Given the description of an element on the screen output the (x, y) to click on. 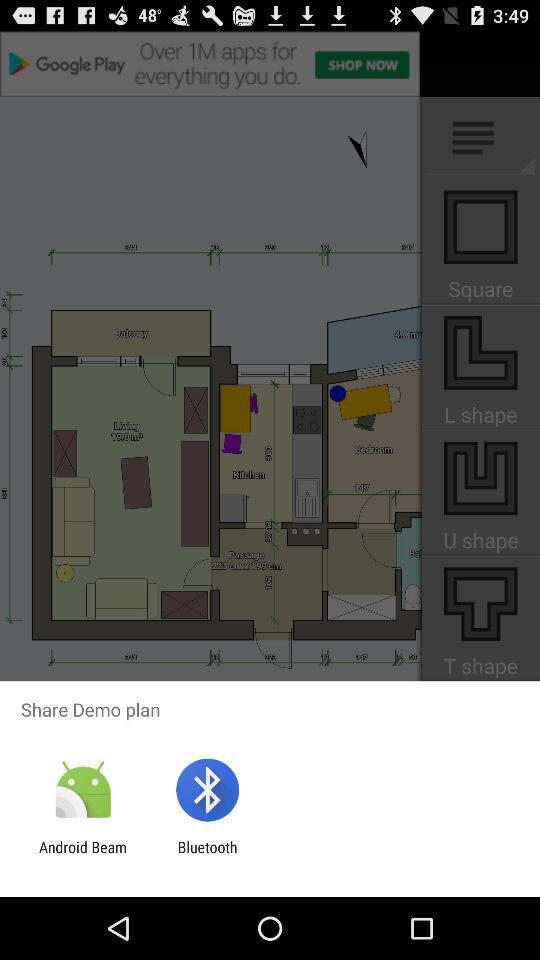
press item to the right of the android beam item (207, 856)
